Given the description of an element on the screen output the (x, y) to click on. 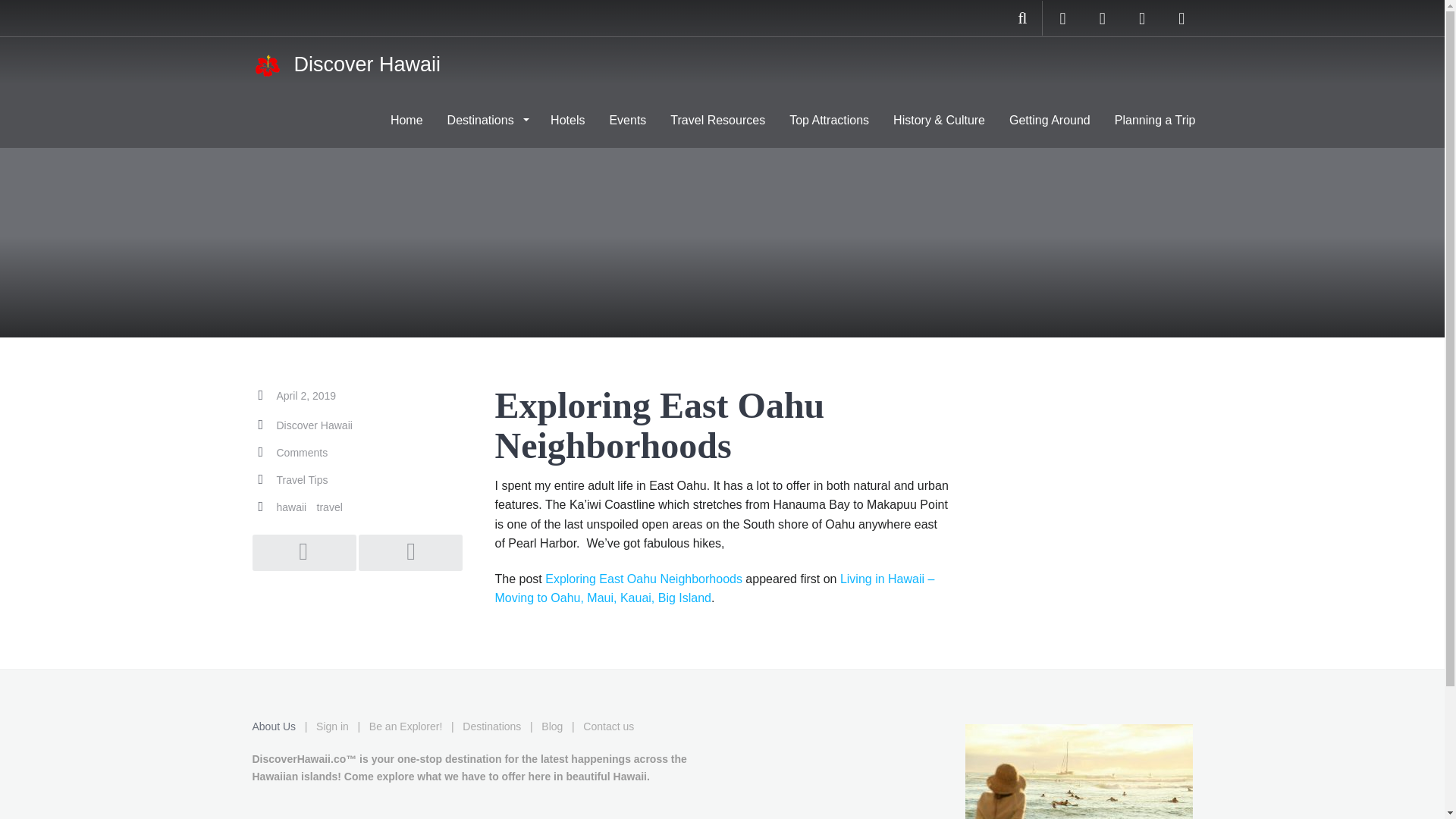
Discover Hawaii (314, 425)
Posts by Discover Hawaii (314, 425)
Planning a Trip (1155, 119)
travel (329, 507)
Travel Resources (717, 119)
Exploring East Oahu Neighborhoods (643, 578)
Destinations (486, 119)
hawaii (290, 507)
Travel Tips (301, 480)
Hotels (567, 119)
